Given the description of an element on the screen output the (x, y) to click on. 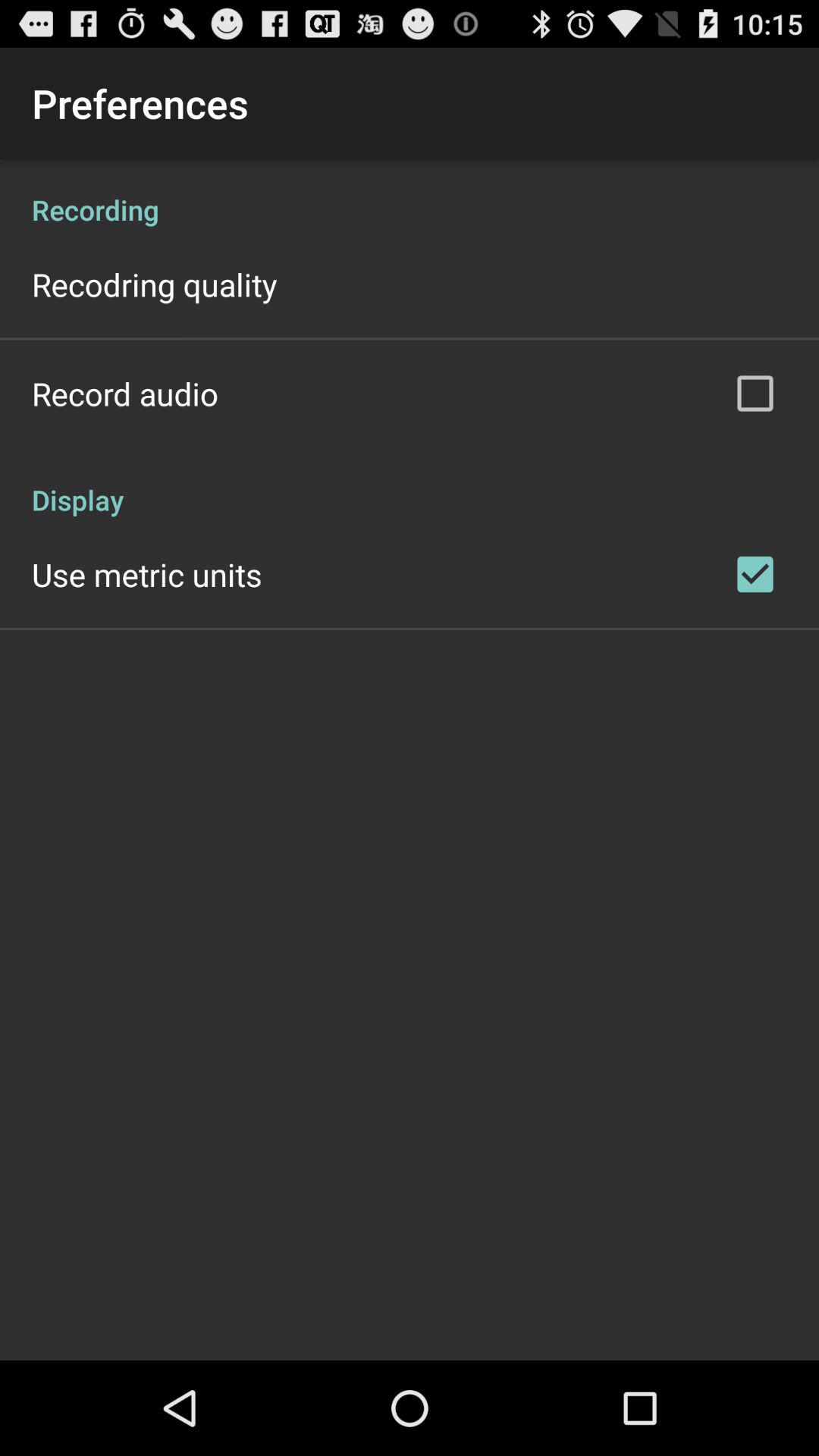
launch the display app (409, 483)
